Given the description of an element on the screen output the (x, y) to click on. 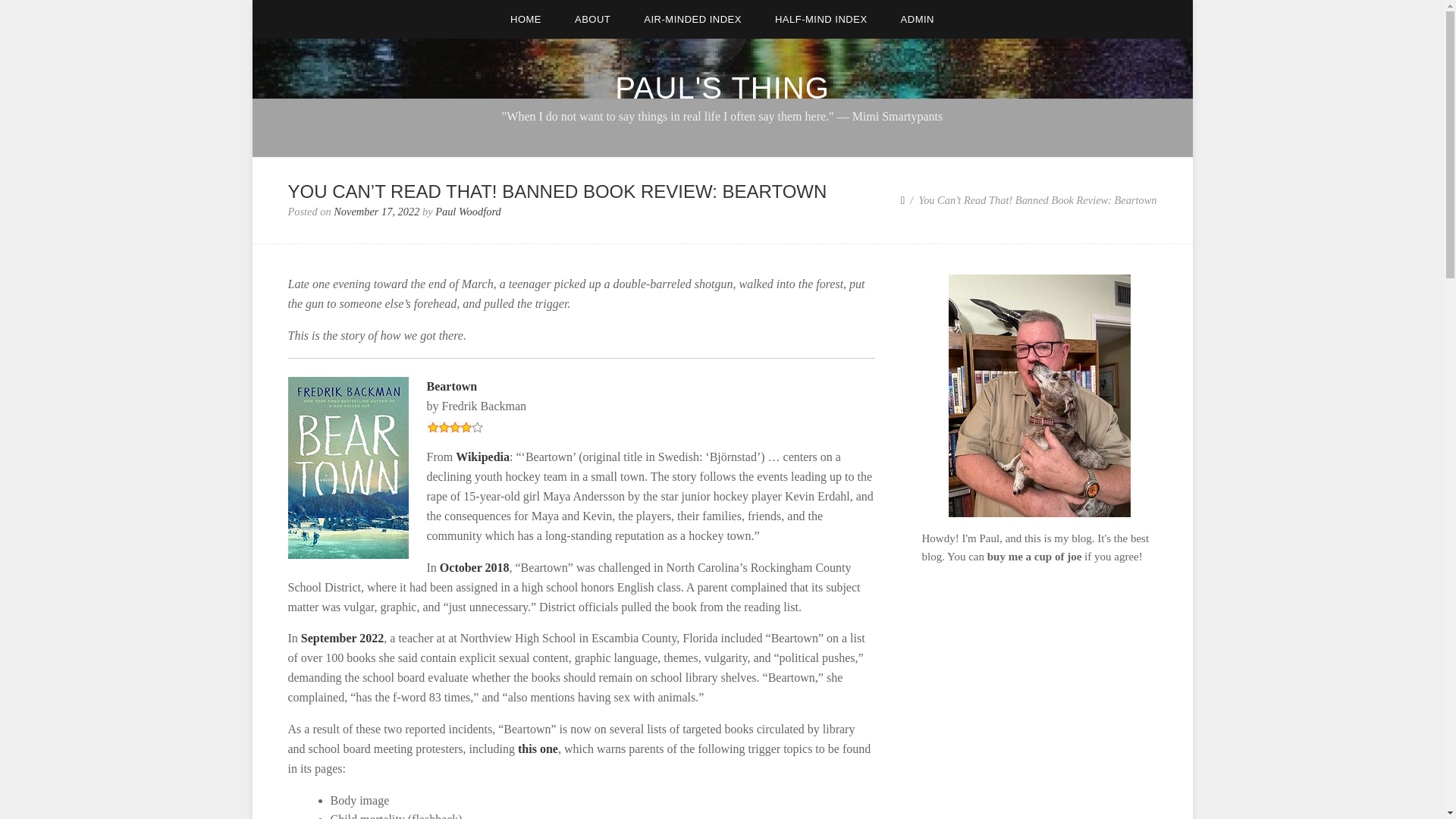
ABOUT (592, 19)
November 17, 2022 (376, 211)
Beartown (451, 386)
PAUL'S THING (721, 87)
this one (537, 748)
Wikipedia (482, 456)
buy me a cup of joe (1034, 556)
HOME (525, 19)
HALF-MIND INDEX (821, 19)
ADMIN (917, 19)
AIR-MINDED INDEX (692, 19)
Paul Woodford (467, 211)
October 2018 (474, 567)
September 2022 (342, 637)
